Given the description of an element on the screen output the (x, y) to click on. 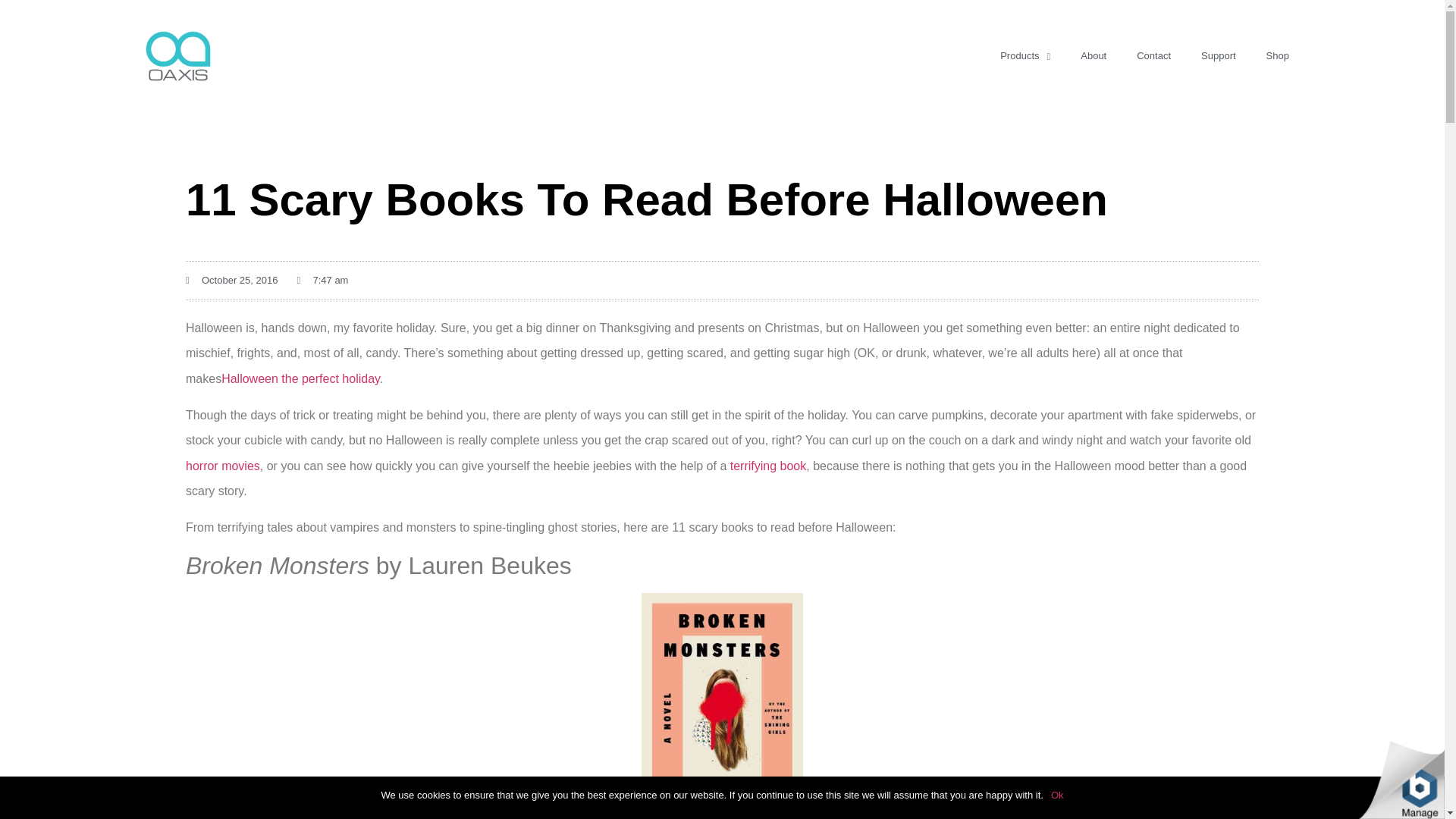
horror movies (223, 465)
terrifying book (768, 465)
No (1425, 797)
Halloween the perfect holiday (300, 378)
Products (1025, 56)
October 25, 2016 (232, 280)
